Given the description of an element on the screen output the (x, y) to click on. 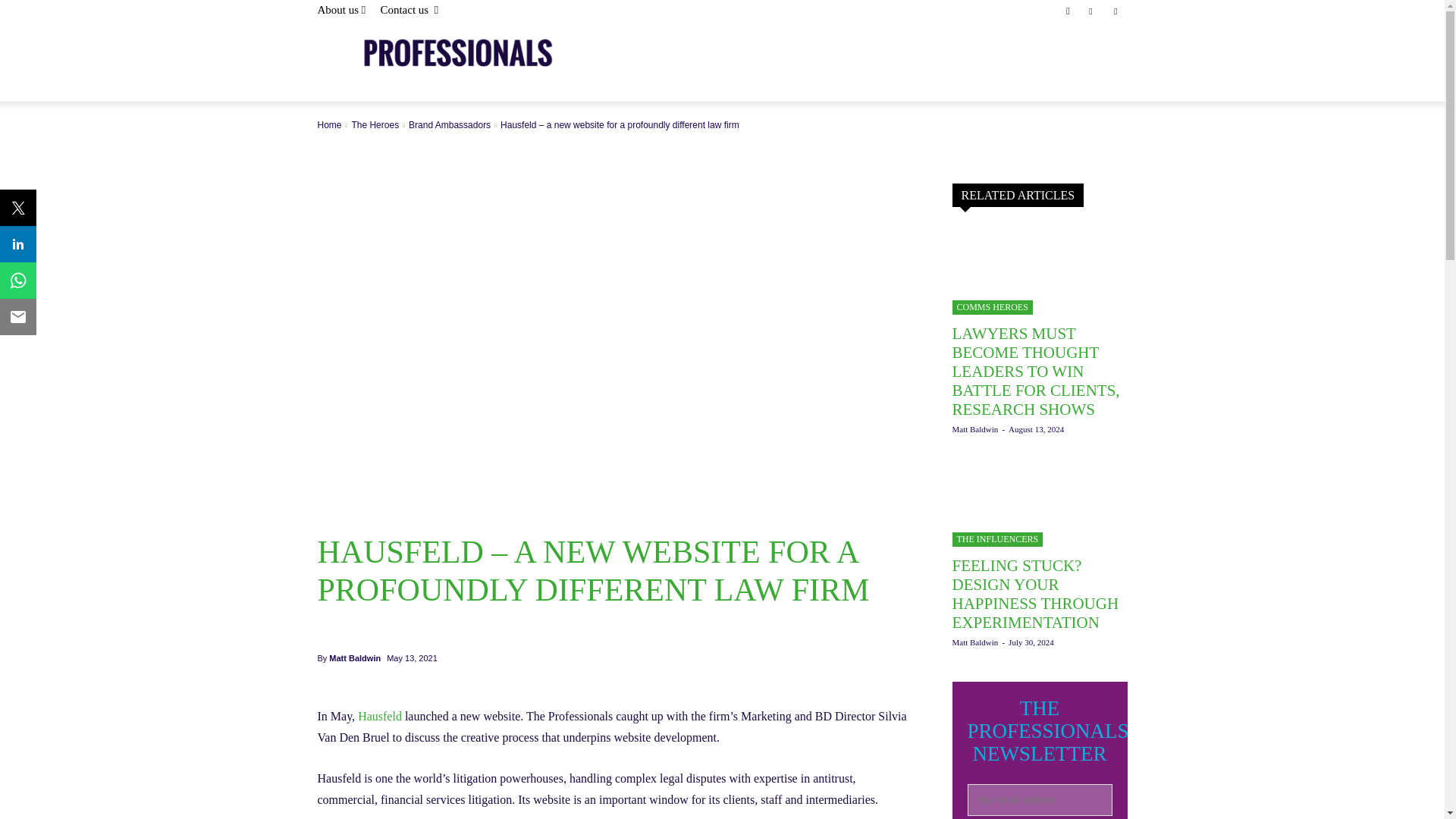
PSM The Professionals (435, 61)
Home (328, 124)
Contact us  (409, 9)
COMMS HEROES (992, 307)
Feeling Stuck? Design Your Happiness Through Experimentation (1035, 593)
View all posts in Brand Ambassadors (449, 124)
Search (1085, 64)
Matt Baldwin (975, 429)
Hausfeld (379, 716)
